Given the description of an element on the screen output the (x, y) to click on. 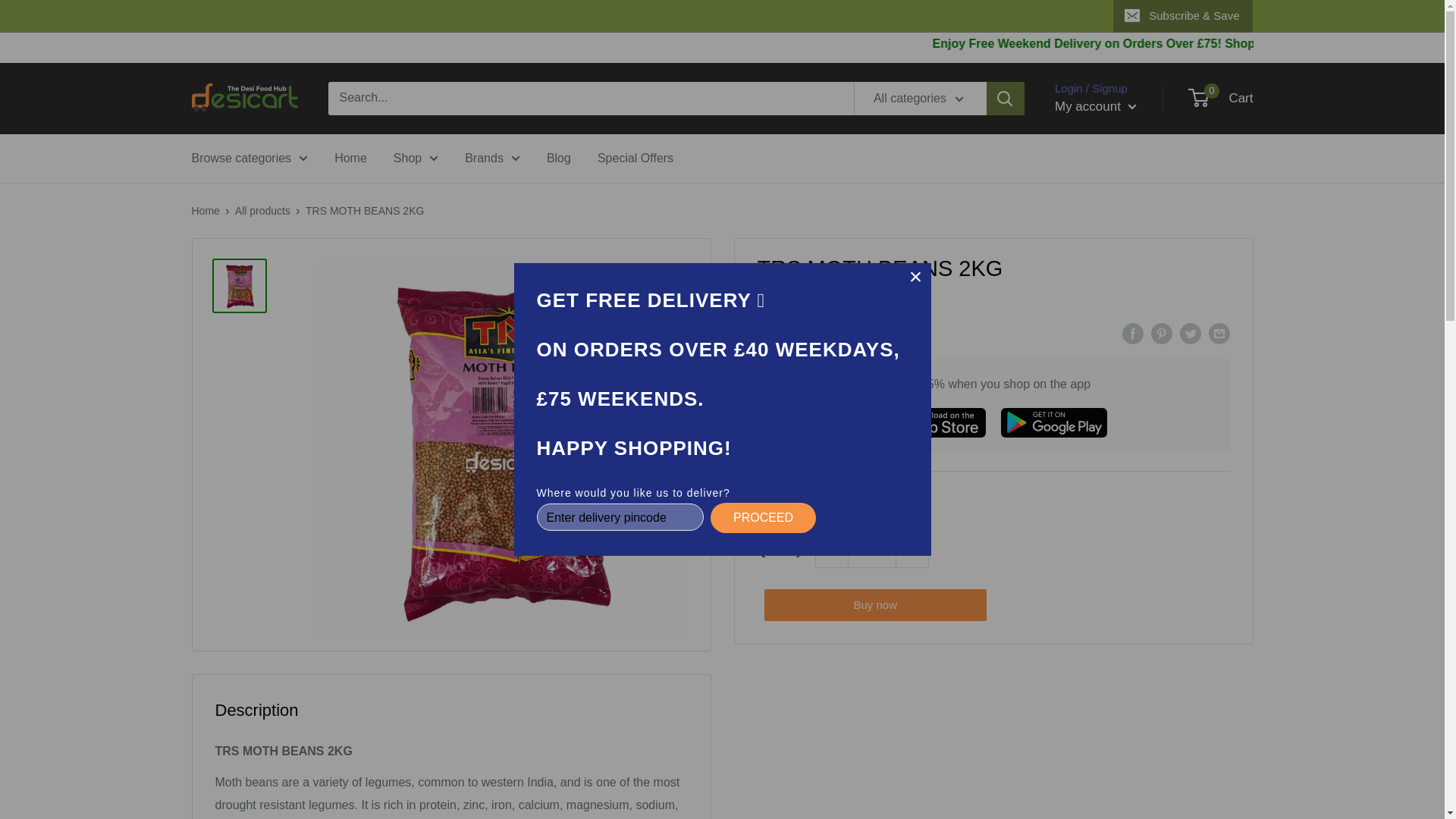
Increase quantity by 1 (912, 551)
Decrease quantity by 1 (831, 551)
1 (871, 551)
